Given the description of an element on the screen output the (x, y) to click on. 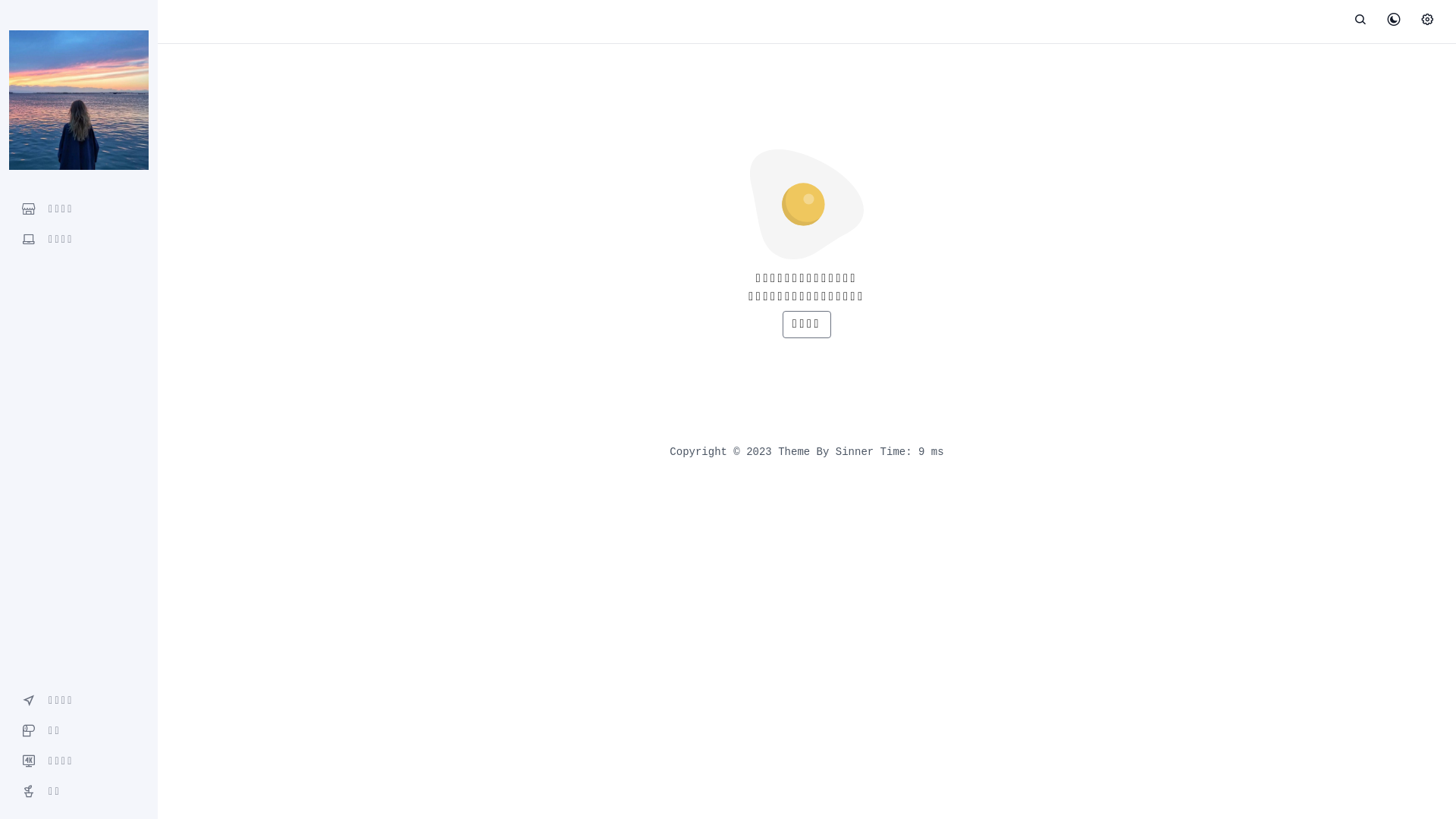
Sinner Element type: text (854, 451)
